Given the description of an element on the screen output the (x, y) to click on. 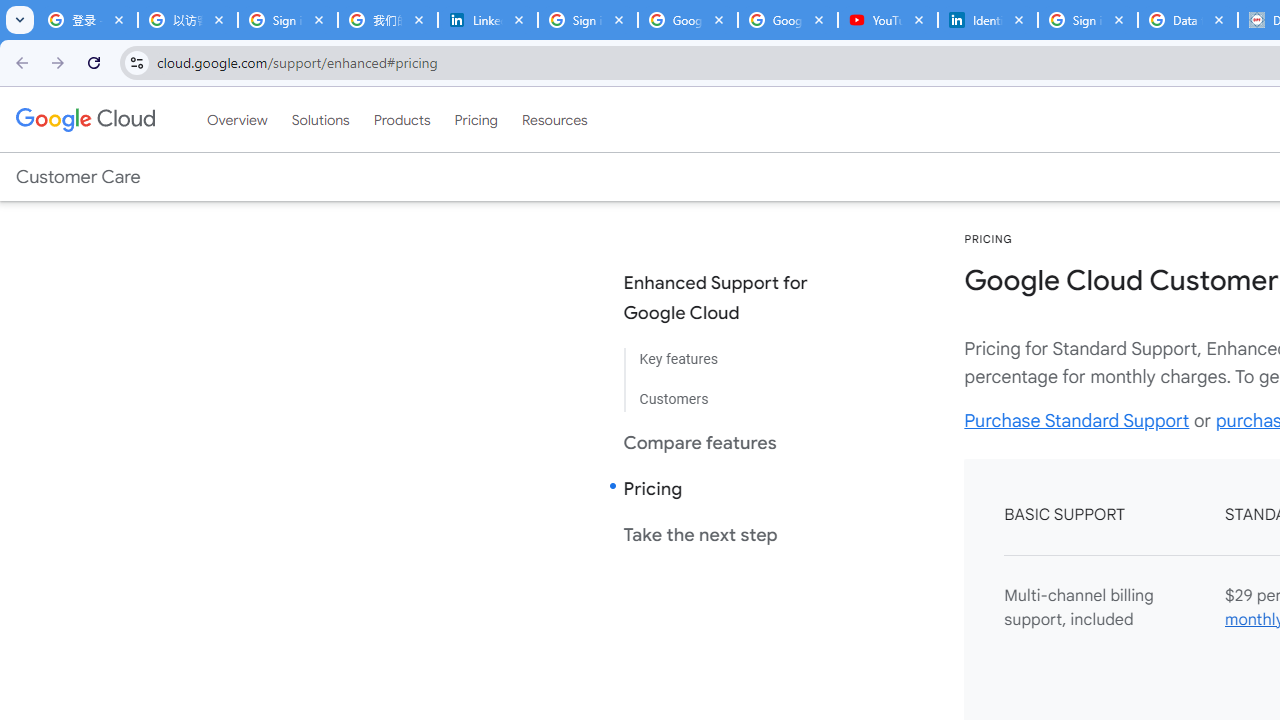
LinkedIn Privacy Policy (487, 20)
Take the next step (732, 534)
Compare features (732, 442)
Sign in - Google Accounts (587, 20)
Sign in - Google Accounts (287, 20)
Sign in - Google Accounts (1087, 20)
Customers (732, 391)
Products (401, 119)
